Given the description of an element on the screen output the (x, y) to click on. 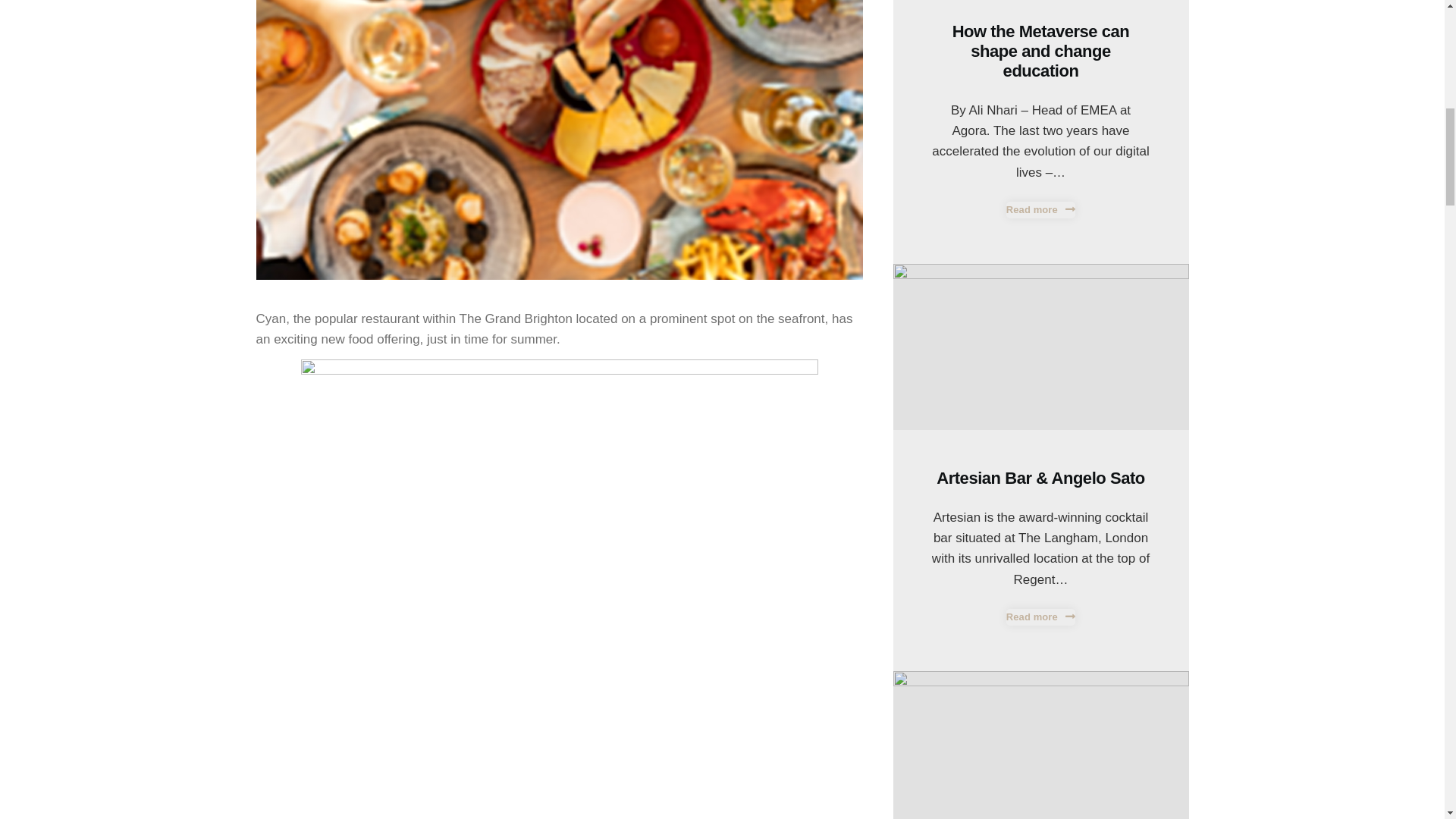
Read more (1040, 209)
Read more (1040, 617)
How the Metaverse can shape and change education (1040, 51)
